Given the description of an element on the screen output the (x, y) to click on. 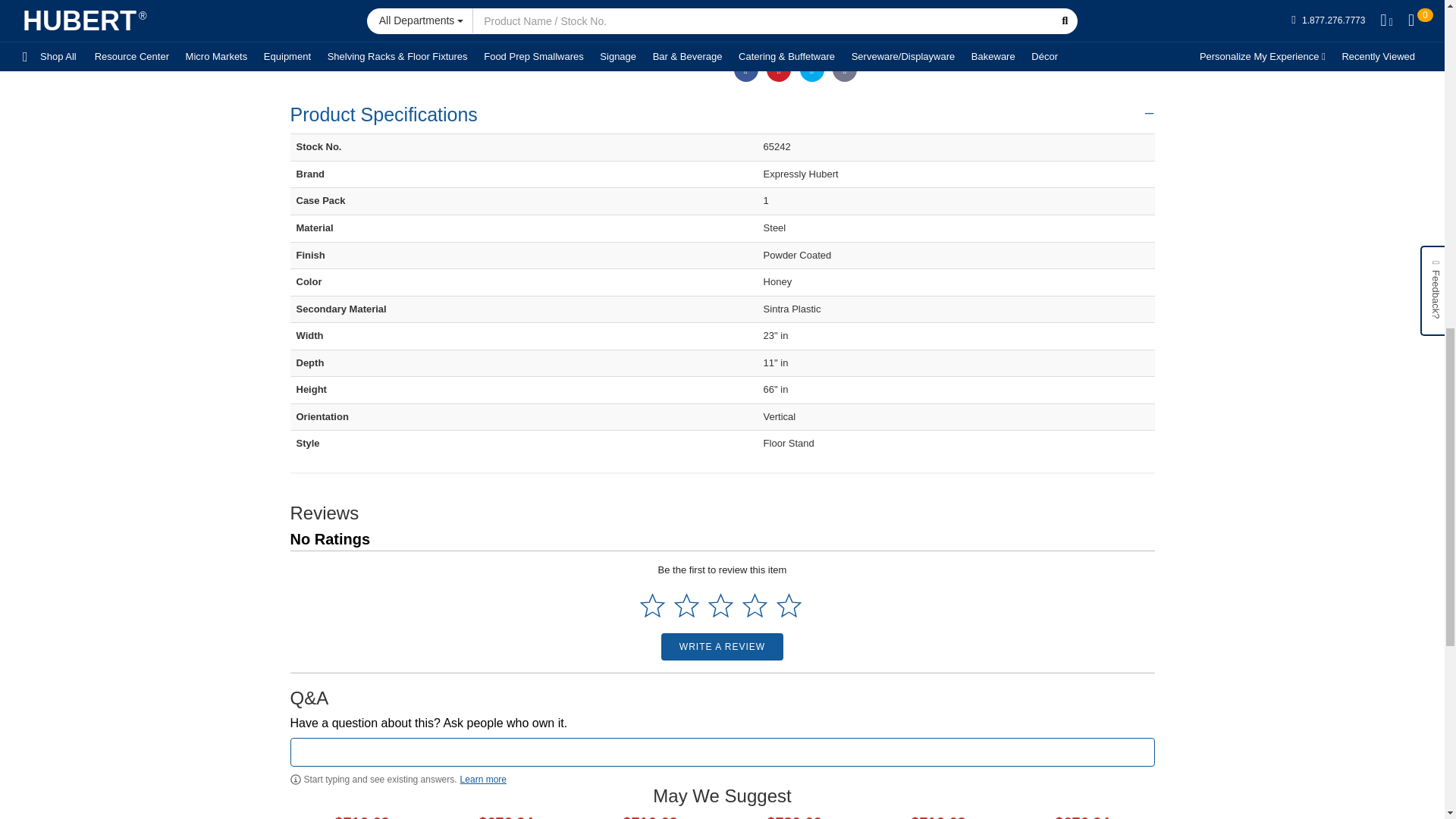
Add to Quote List (985, 19)
Share on Twitter (811, 69)
Share on Pinterest (778, 69)
Share on Facebook (745, 69)
